Given the description of an element on the screen output the (x, y) to click on. 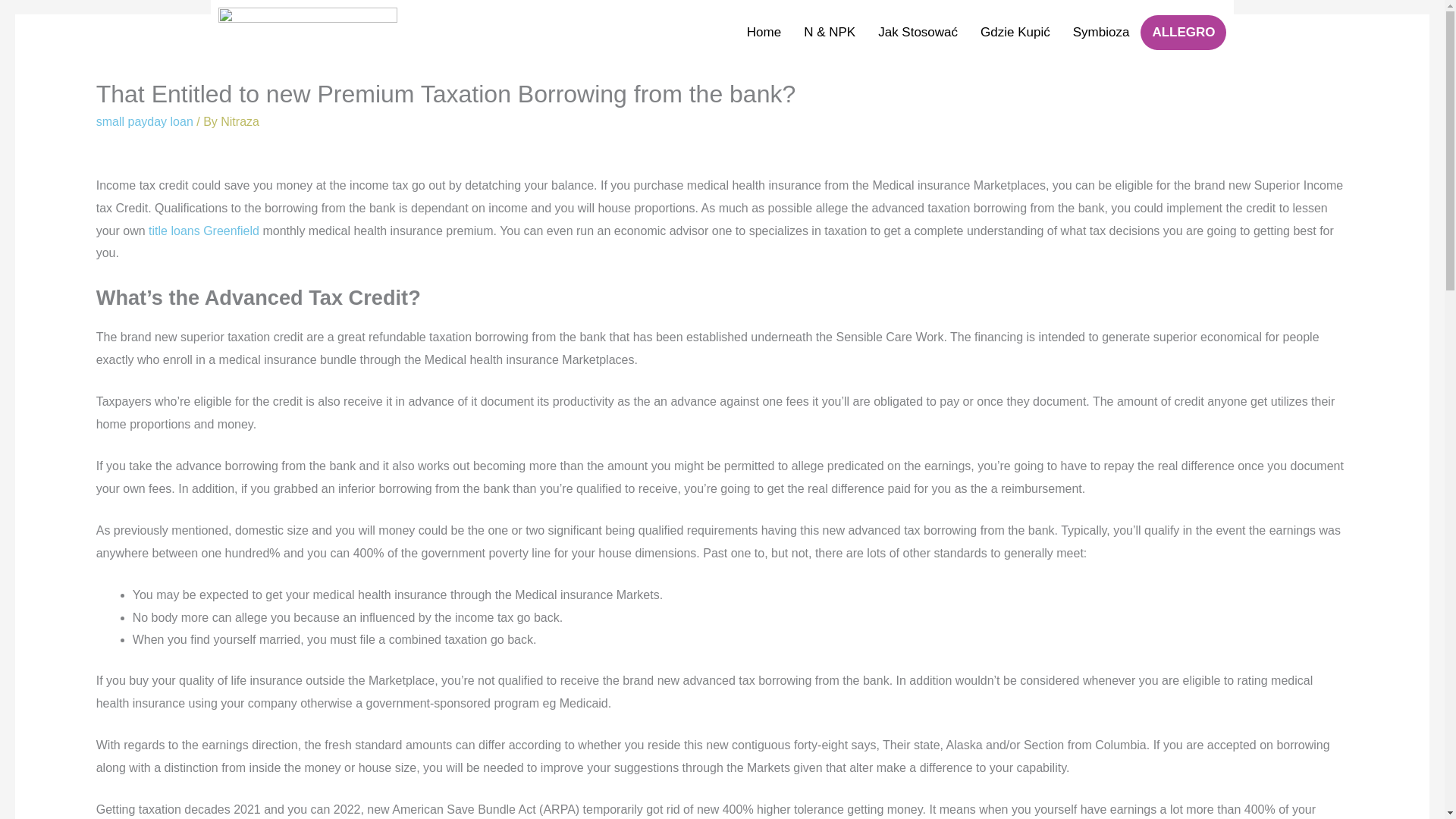
ALLEGRO (1182, 32)
View all posts by Nitraza (240, 121)
Symbioza (1101, 32)
Home (763, 32)
Nitraza (240, 121)
small payday loan (144, 121)
title loans Greenfield (203, 230)
